Given the description of an element on the screen output the (x, y) to click on. 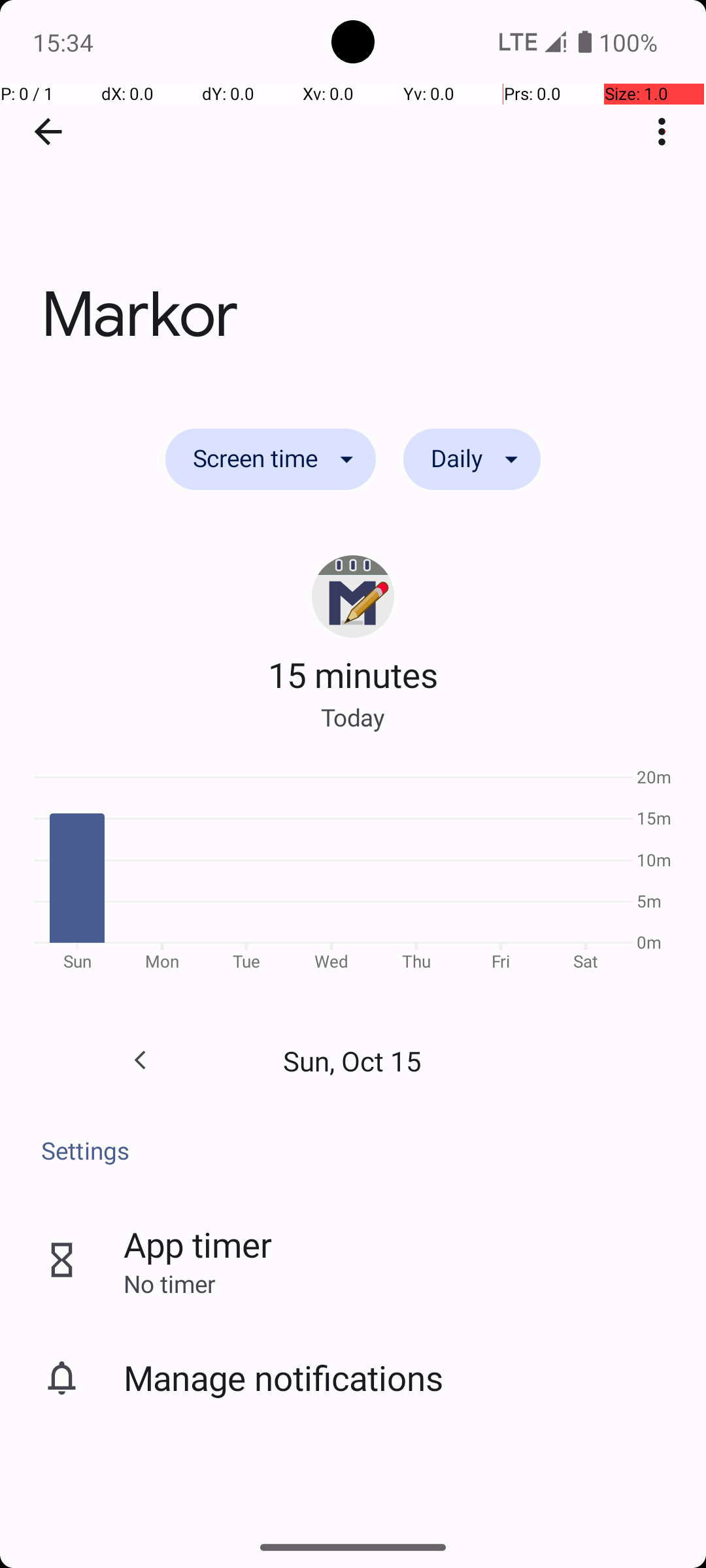
15 minutes Element type: android.widget.TextView (353, 674)
Bar Chart. Showing App usage data with 7 data points. Element type: android.view.ViewGroup (353, 873)
App timer Element type: android.widget.TextView (197, 1244)
No timer Element type: android.widget.TextView (169, 1283)
Manage notifications Element type: android.widget.TextView (283, 1377)
